Given the description of an element on the screen output the (x, y) to click on. 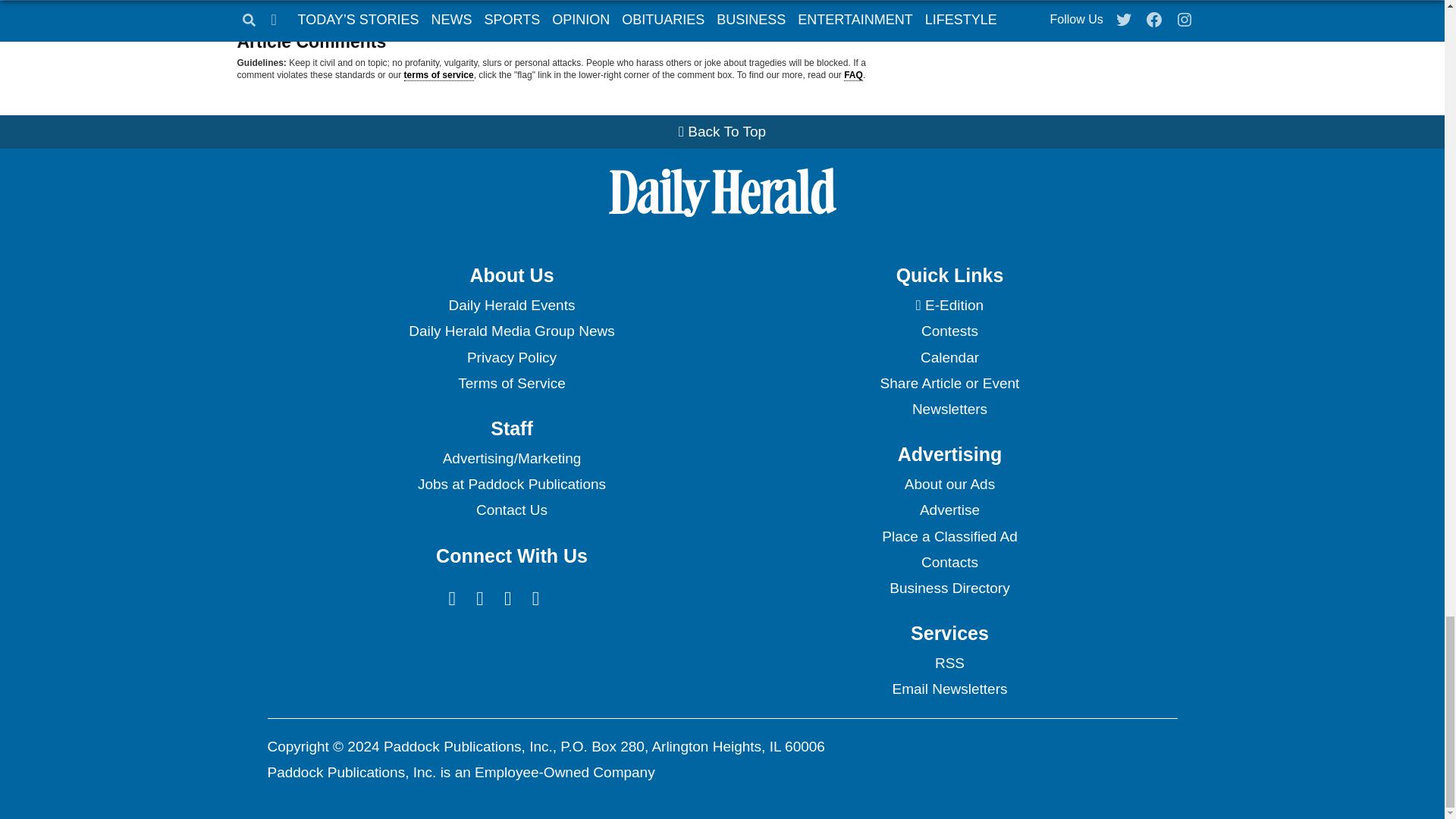
Daily Herald Events (511, 305)
Daily Herald Media Group News (511, 330)
Privacy Policy (511, 357)
